Given the description of an element on the screen output the (x, y) to click on. 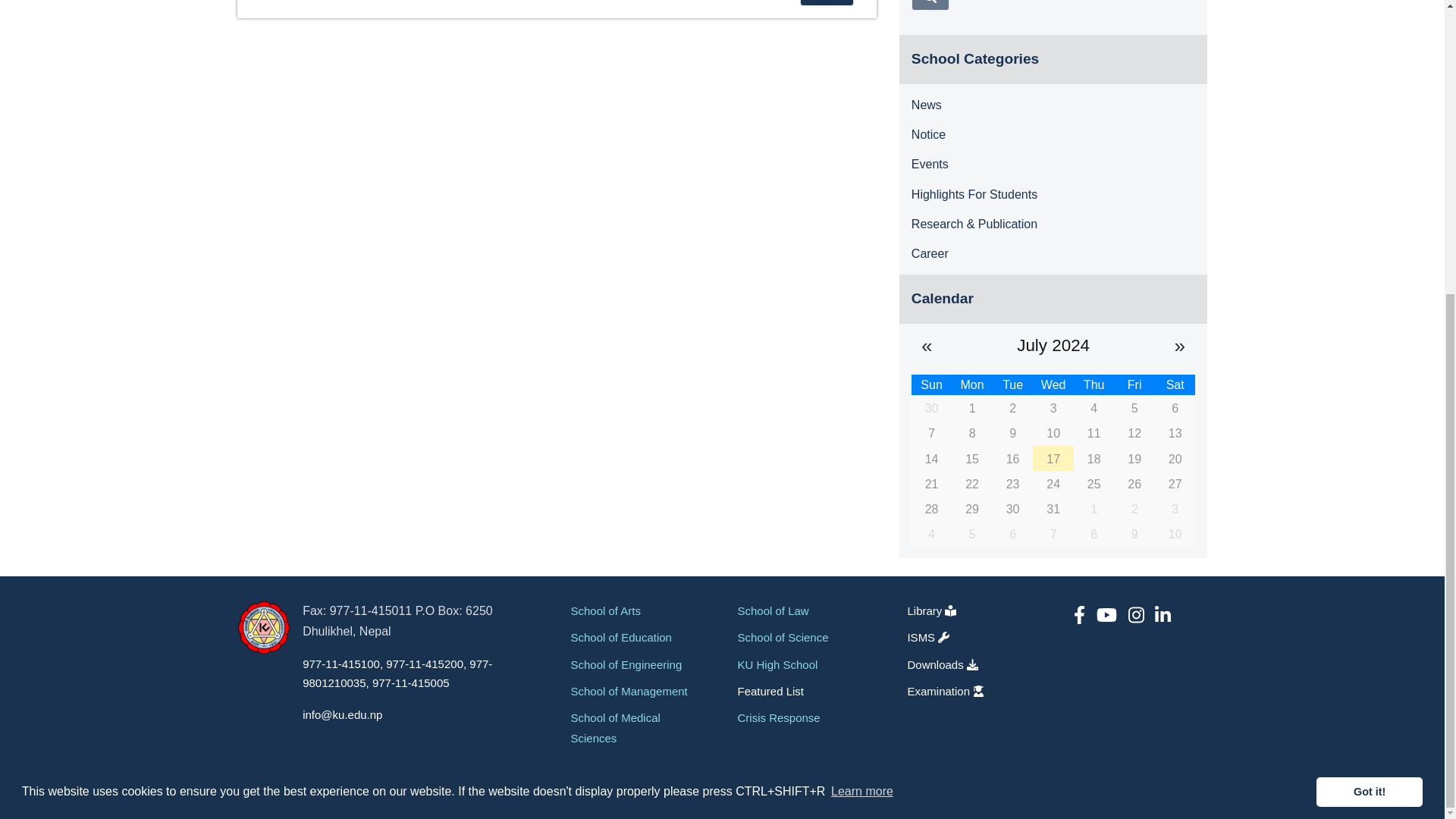
Got it! (1369, 340)
Learn more (861, 341)
